Given the description of an element on the screen output the (x, y) to click on. 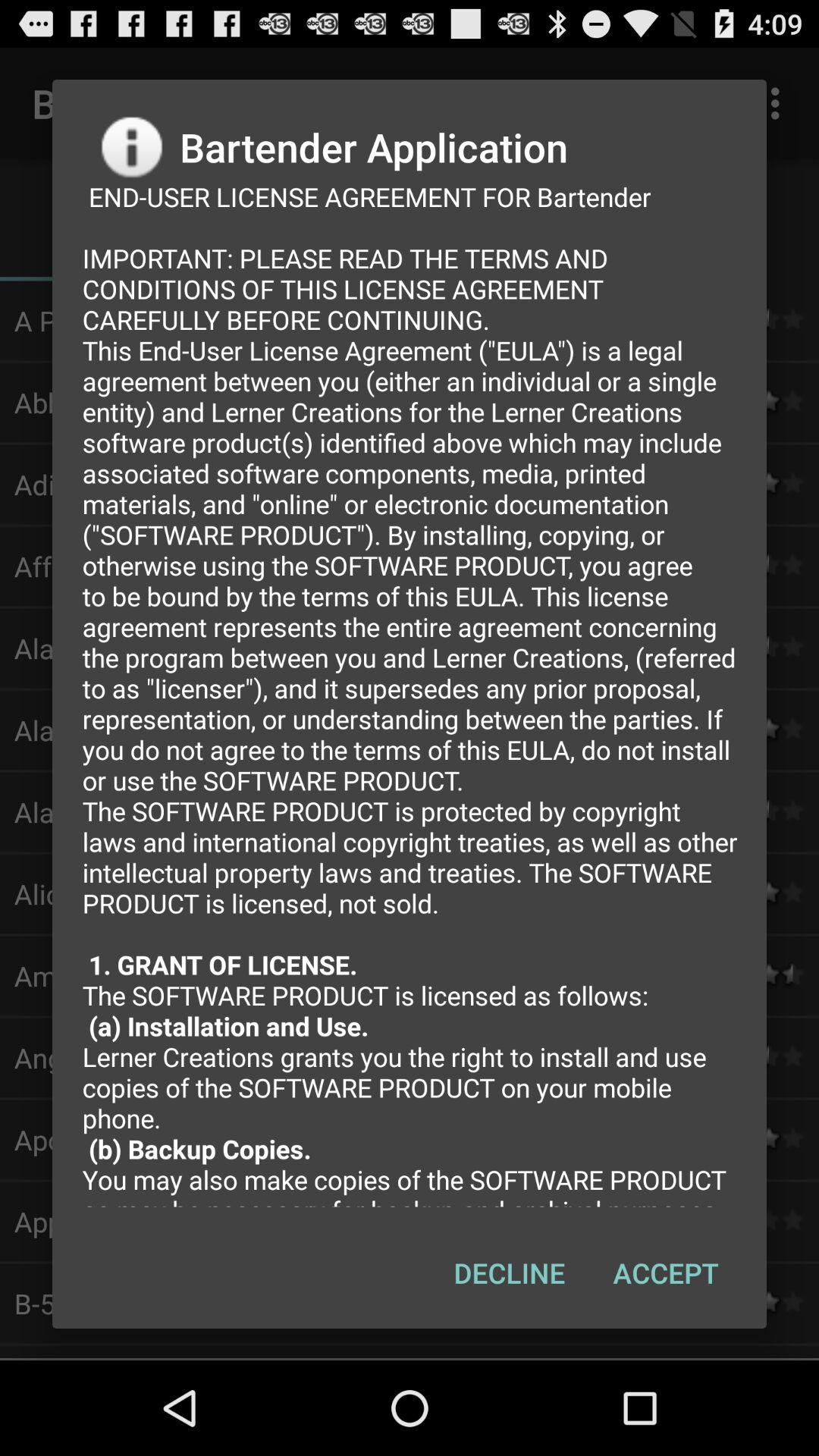
flip to decline item (509, 1272)
